Given the description of an element on the screen output the (x, y) to click on. 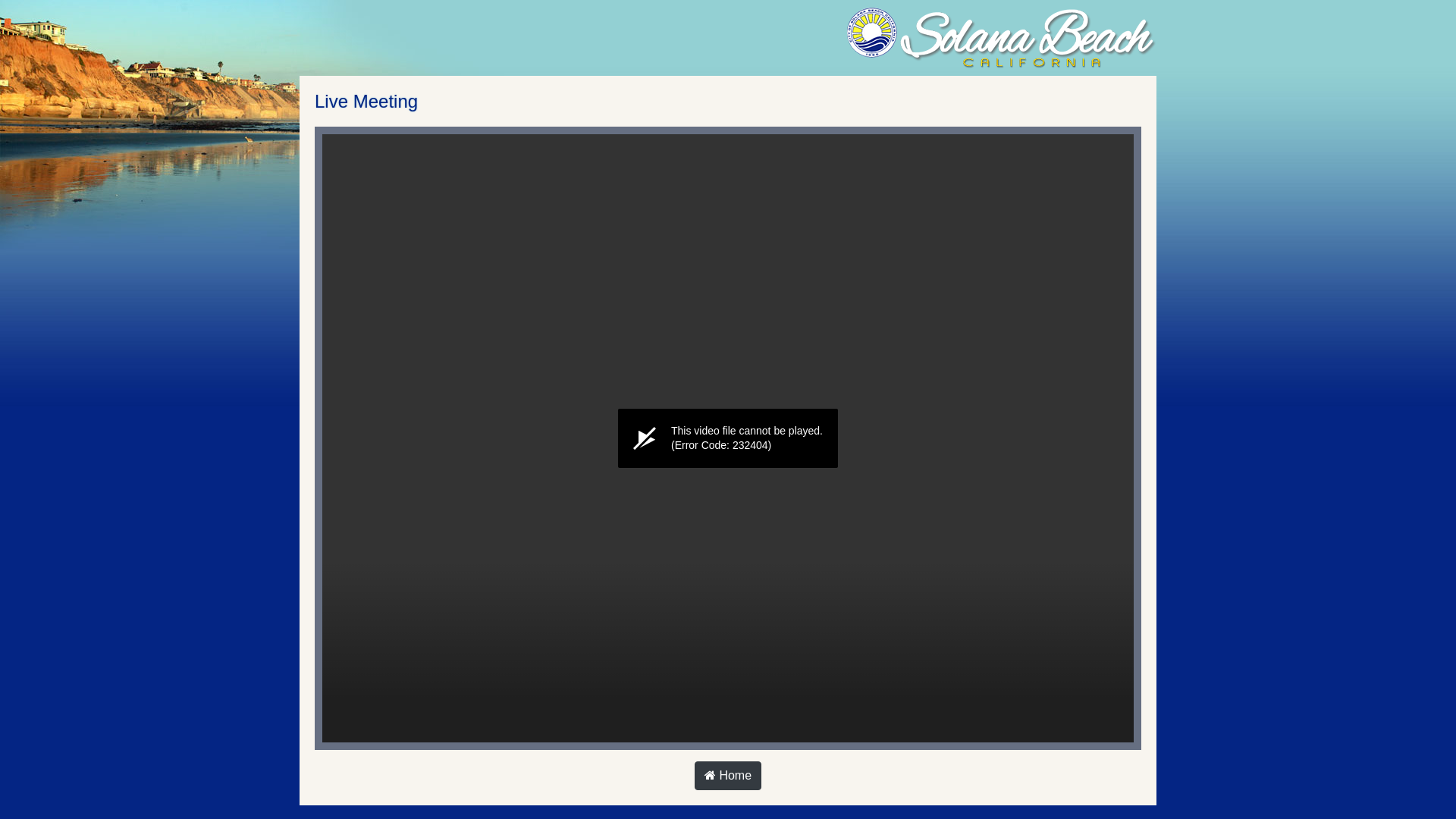
Home Element type: text (727, 775)
City of Solana Beach Video Archive Element type: text (943, 37)
